Given the description of an element on the screen output the (x, y) to click on. 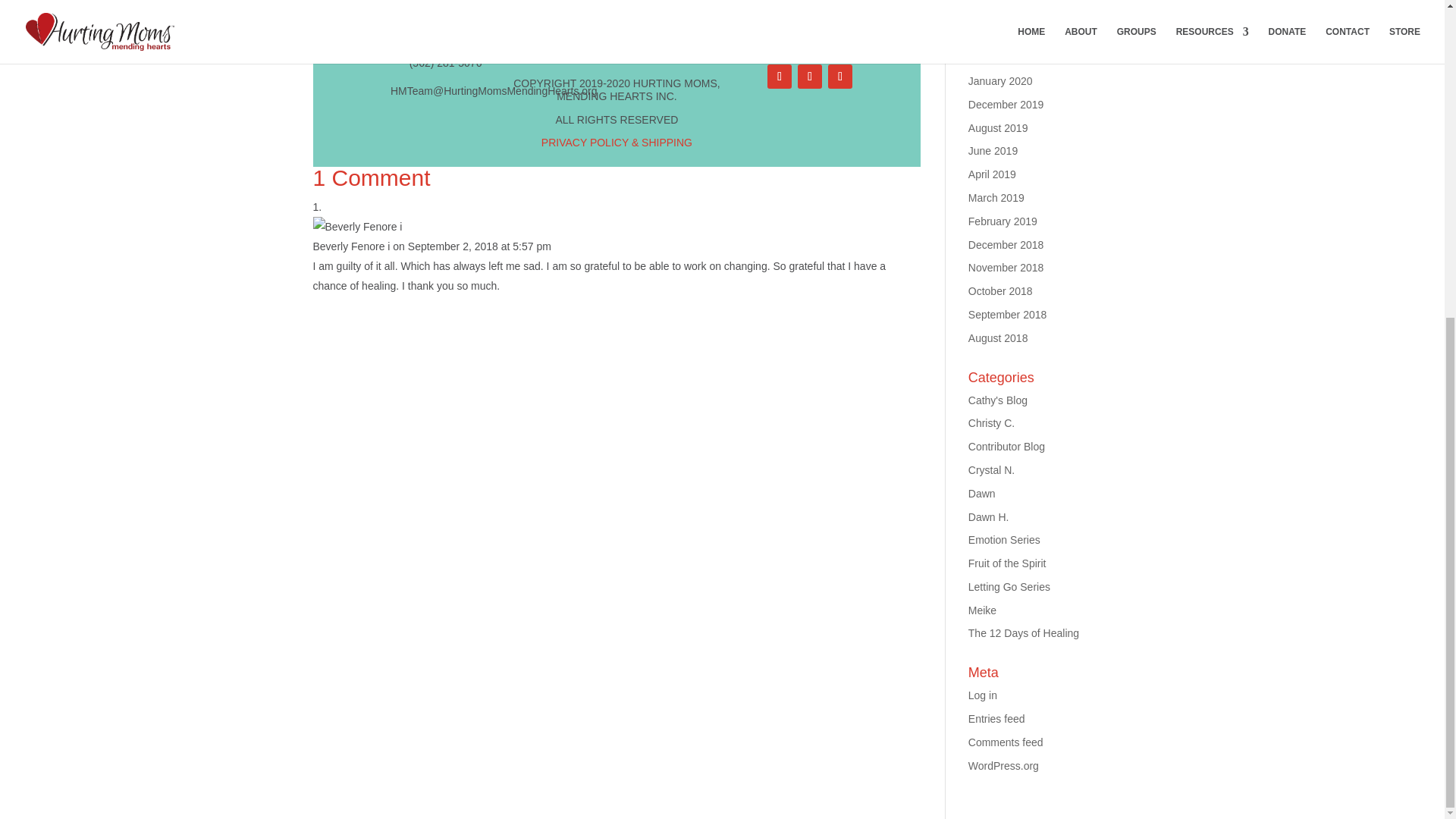
Follow on Facebook (779, 76)
Follow on Instagram (809, 76)
Follow on Youtube (839, 76)
